Given the description of an element on the screen output the (x, y) to click on. 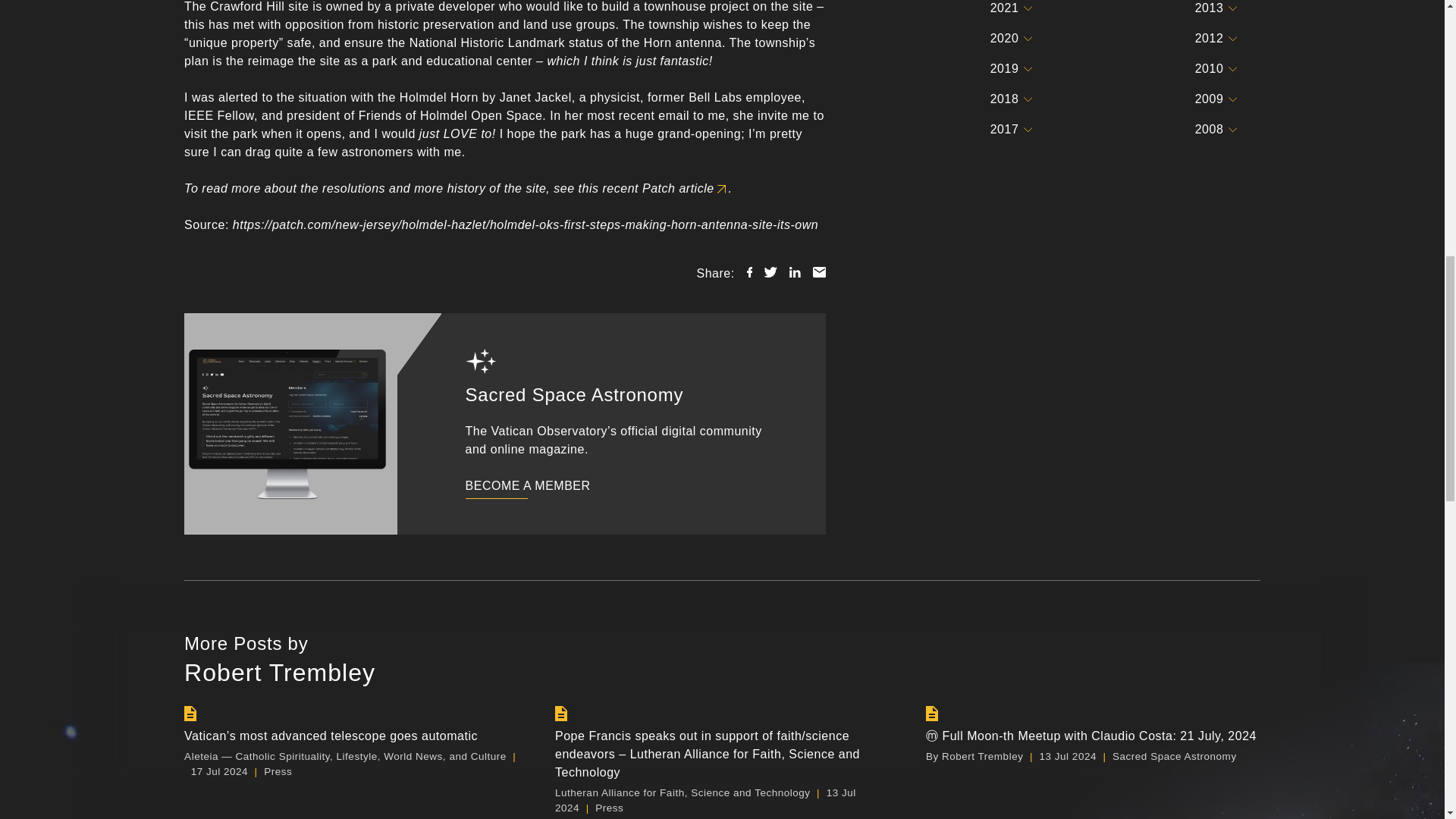
Share via Email (818, 271)
Share on LinkedIn (794, 271)
Share on Twitter (770, 271)
